Given the description of an element on the screen output the (x, y) to click on. 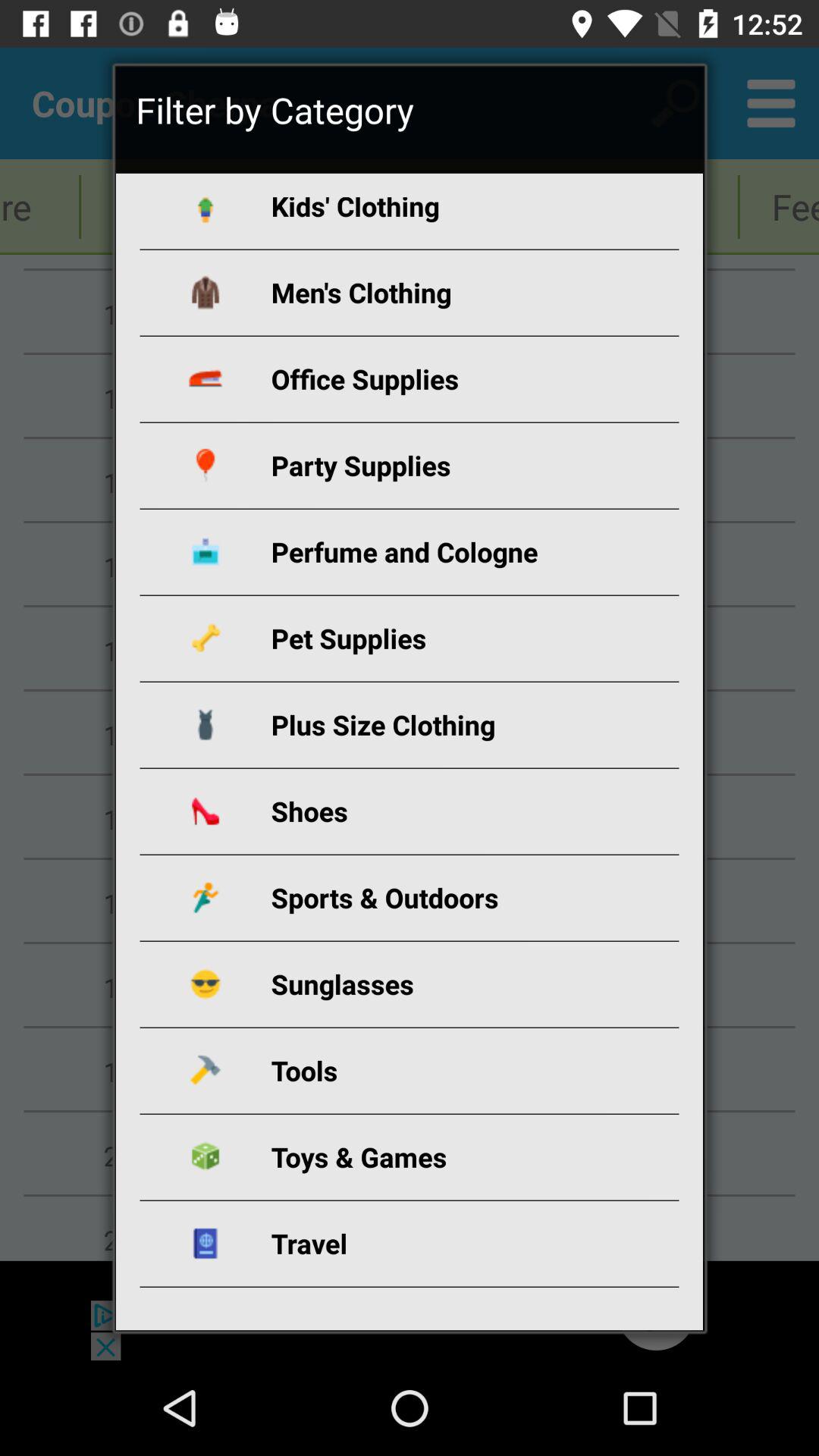
press the tools item (427, 1070)
